Given the description of an element on the screen output the (x, y) to click on. 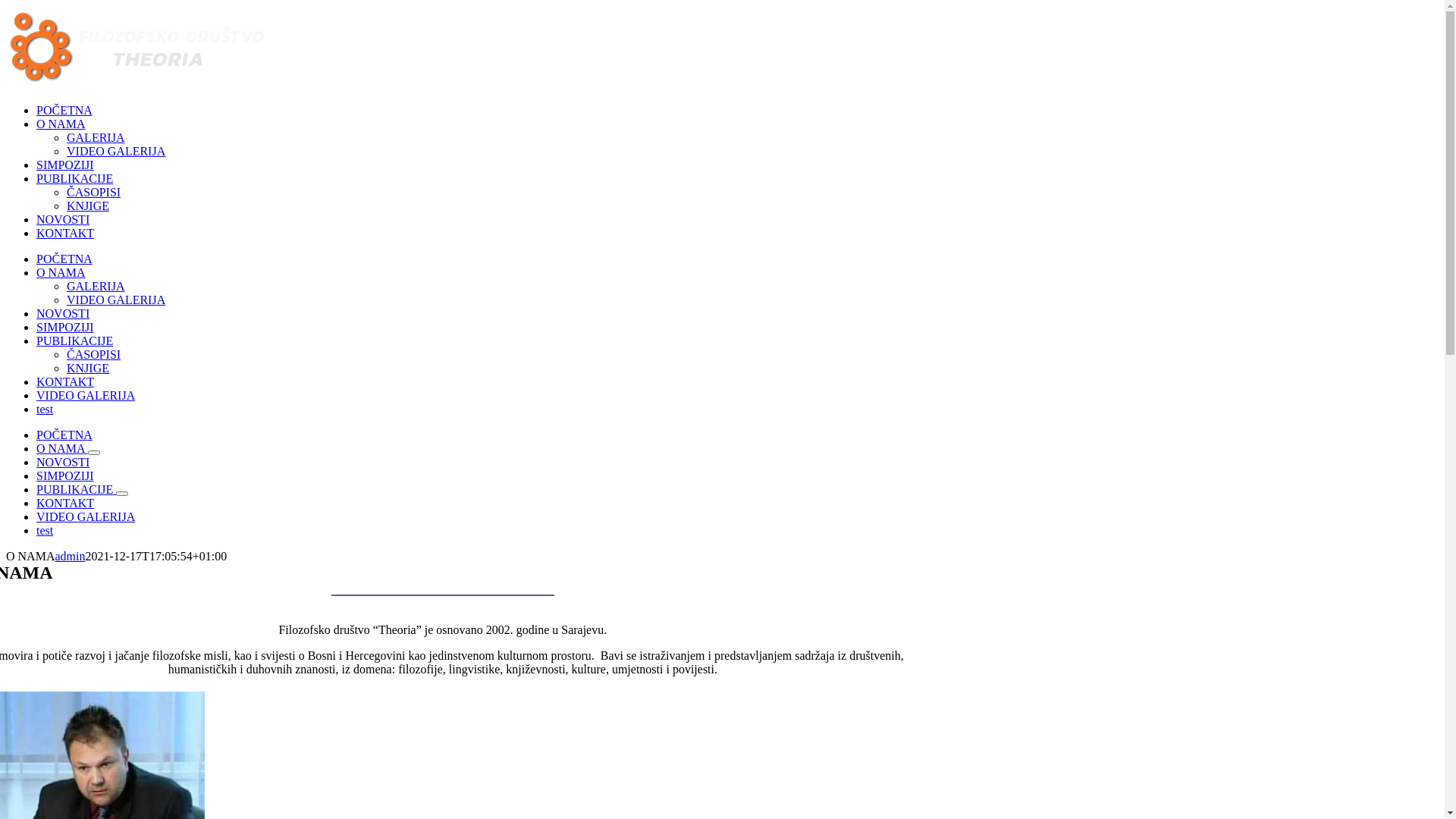
NOVOSTI Element type: text (62, 219)
PUBLIKACIJE Element type: text (74, 178)
KNJIGE Element type: text (87, 367)
test Element type: text (44, 530)
PUBLIKACIJE Element type: text (76, 489)
PUBLIKACIJE Element type: text (74, 340)
VIDEO GALERIJA Element type: text (115, 299)
VIDEO GALERIJA Element type: text (85, 516)
SIMPOZIJI Element type: text (65, 326)
KONTAKT Element type: text (65, 232)
O NAMA Element type: text (60, 272)
KONTAKT Element type: text (65, 381)
GALERIJA Element type: text (95, 285)
test Element type: text (44, 408)
KONTAKT Element type: text (65, 502)
O NAMA Element type: text (61, 448)
GALERIJA Element type: text (95, 137)
NOVOSTI Element type: text (62, 313)
VIDEO GALERIJA Element type: text (85, 395)
admin Element type: text (69, 555)
O NAMA Element type: text (60, 123)
SIMPOZIJI Element type: text (65, 475)
VIDEO GALERIJA Element type: text (115, 150)
Skip to content Element type: text (5, 5)
NOVOSTI Element type: text (62, 461)
KNJIGE Element type: text (87, 205)
SIMPOZIJI Element type: text (65, 164)
